Given the description of an element on the screen output the (x, y) to click on. 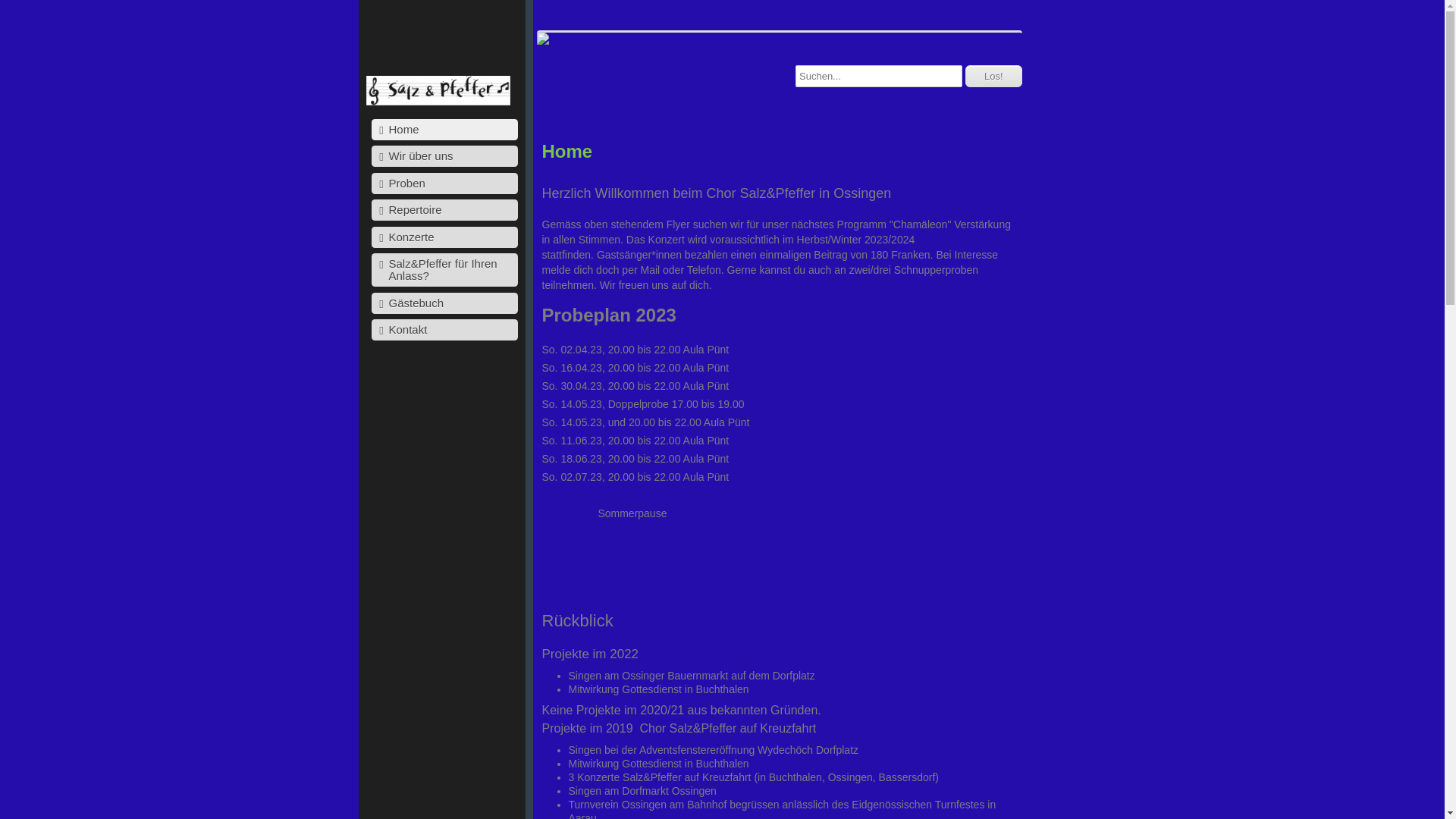
Home Element type: text (444, 129)
Proben Element type: text (444, 183)
Konzerte Element type: text (444, 236)
Repertoire Element type: text (444, 209)
Kontakt Element type: text (444, 329)
Los! Element type: text (993, 76)
